Given the description of an element on the screen output the (x, y) to click on. 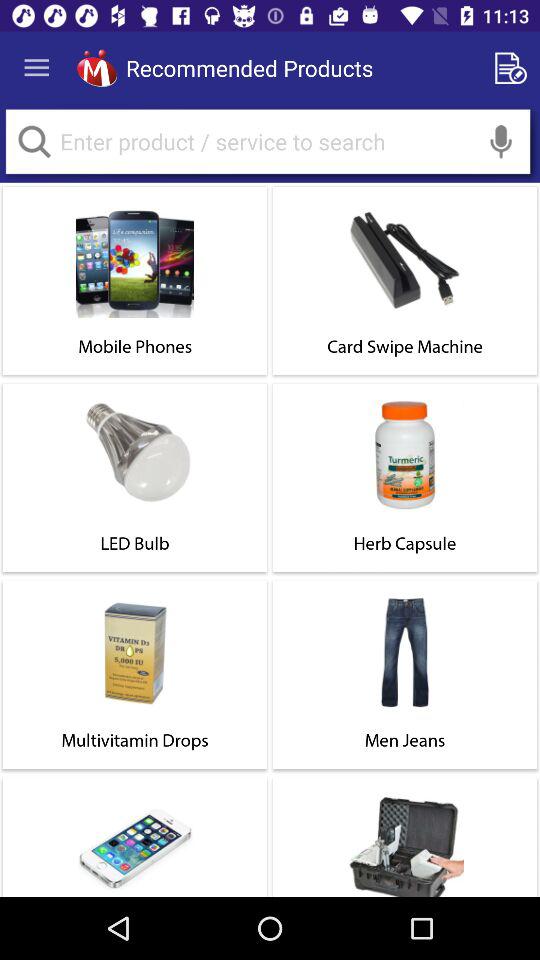
voice input option (501, 141)
